Given the description of an element on the screen output the (x, y) to click on. 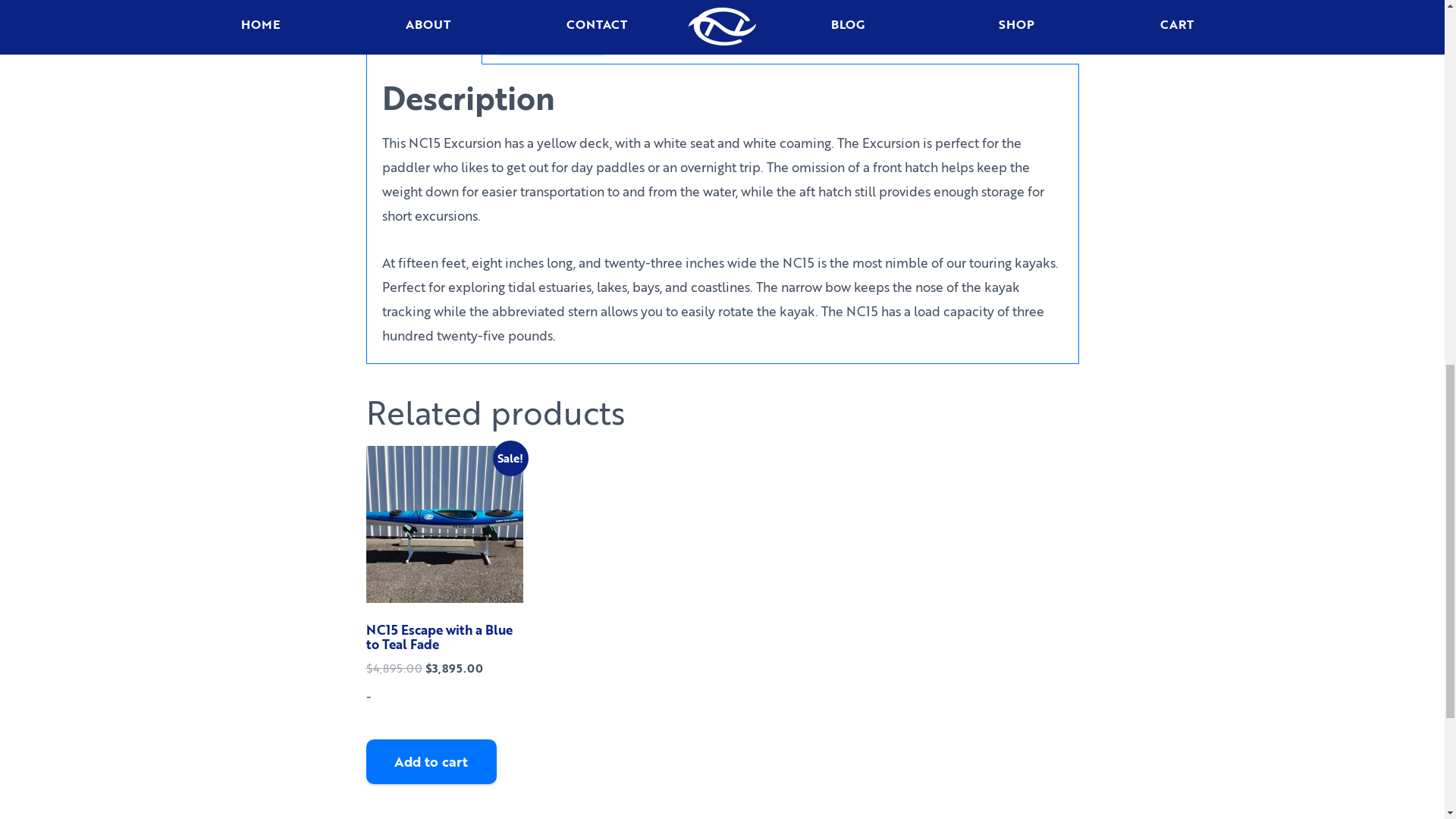
DESCRIPTION (423, 41)
Add to cart (430, 761)
